Given the description of an element on the screen output the (x, y) to click on. 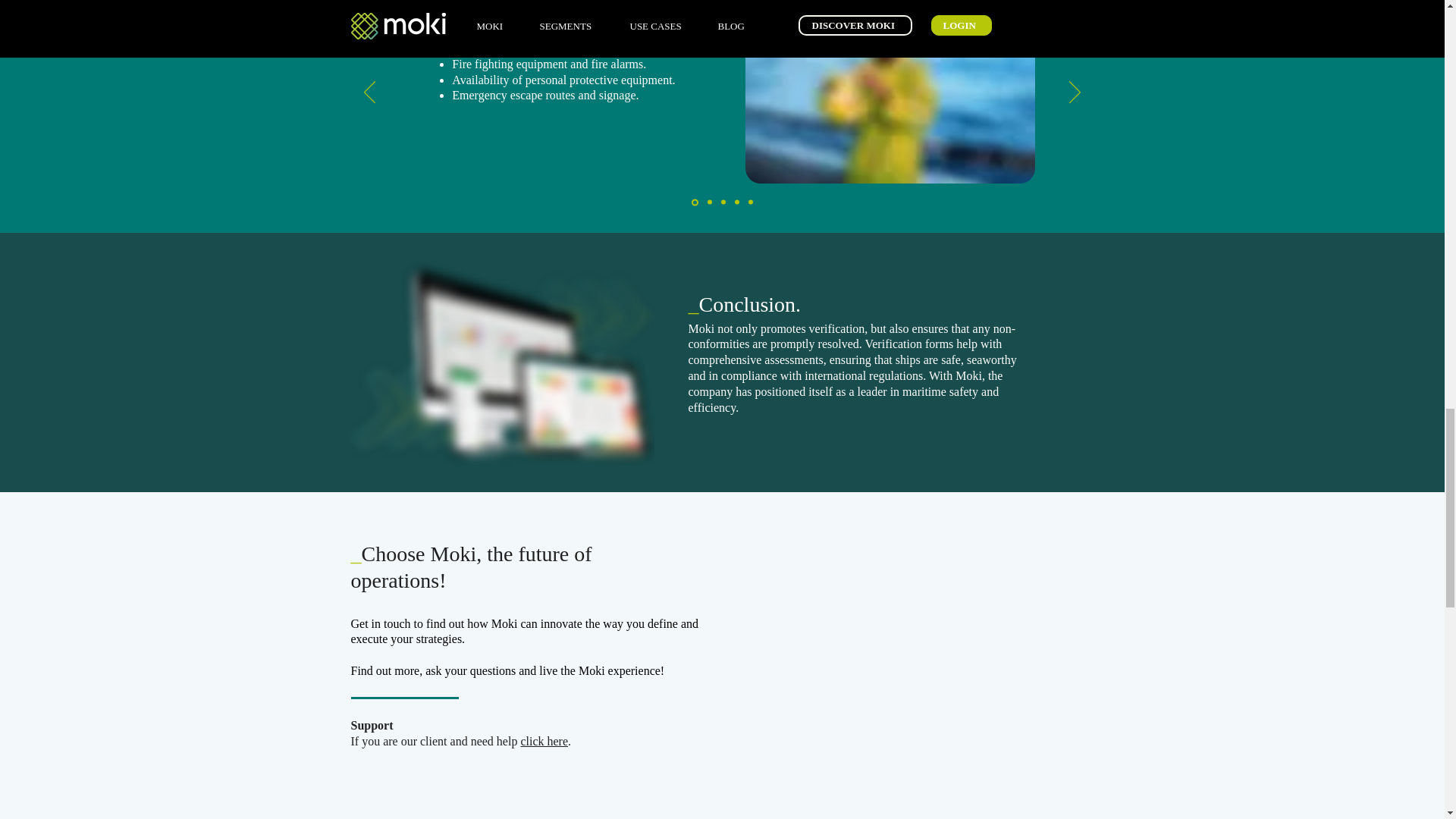
click here (543, 740)
